Given the description of an element on the screen output the (x, y) to click on. 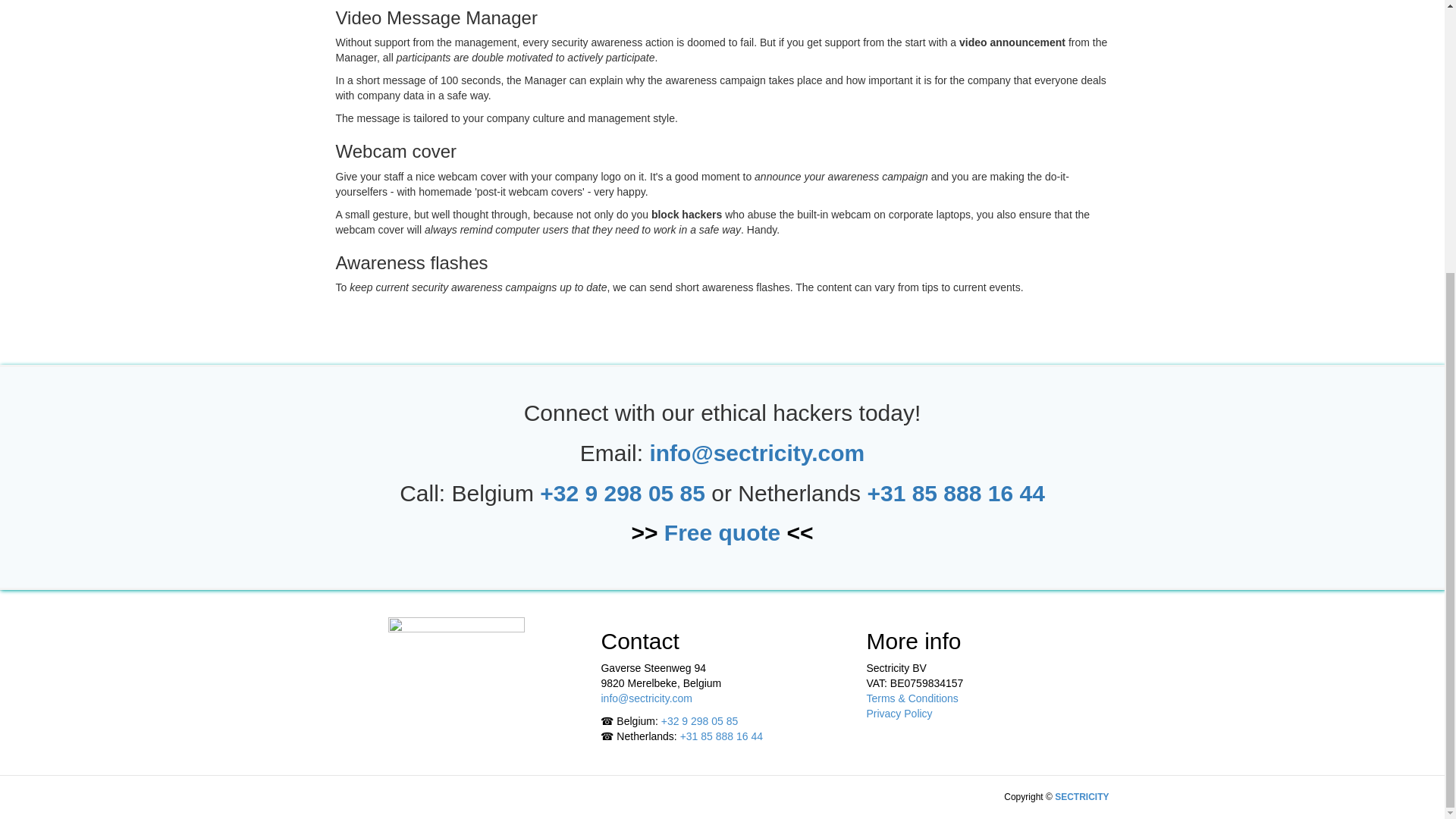
Free quote (721, 532)
Privacy Policy (898, 713)
SECTRICITY (1081, 796)
